Given the description of an element on the screen output the (x, y) to click on. 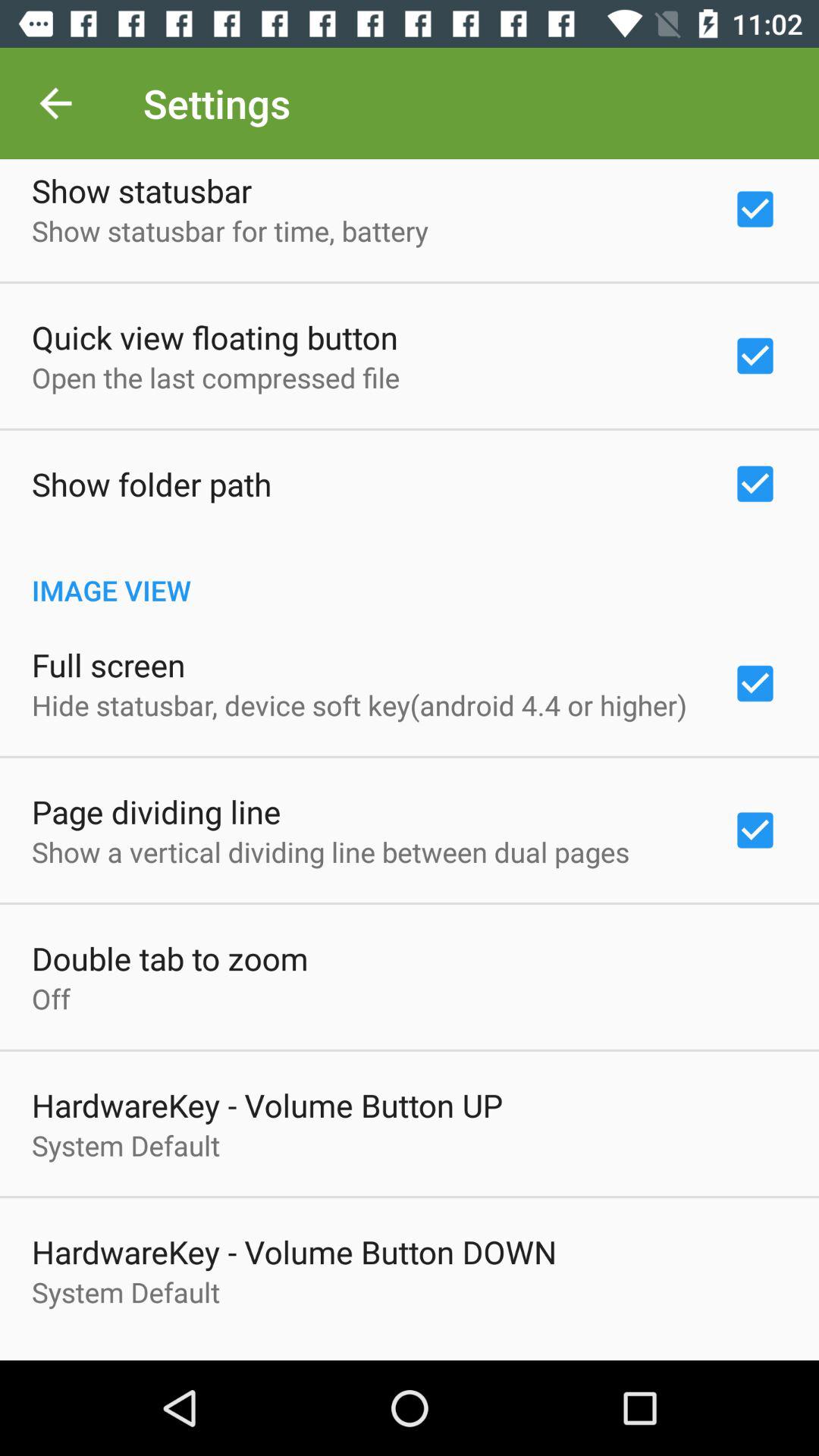
choose the icon above the off item (169, 957)
